Given the description of an element on the screen output the (x, y) to click on. 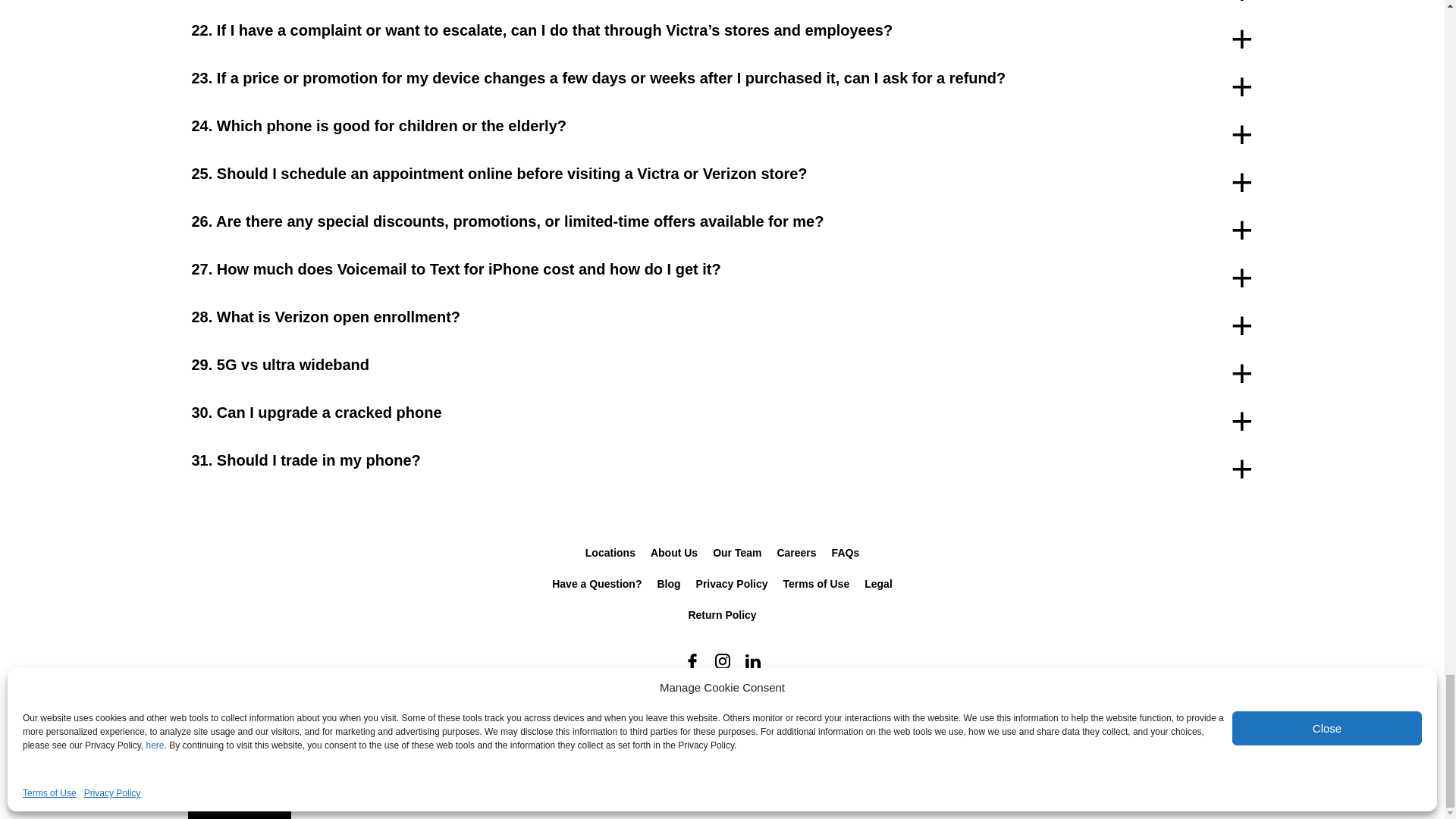
Linkedin (751, 661)
Facebook (691, 661)
Instagram (721, 661)
